Given the description of an element on the screen output the (x, y) to click on. 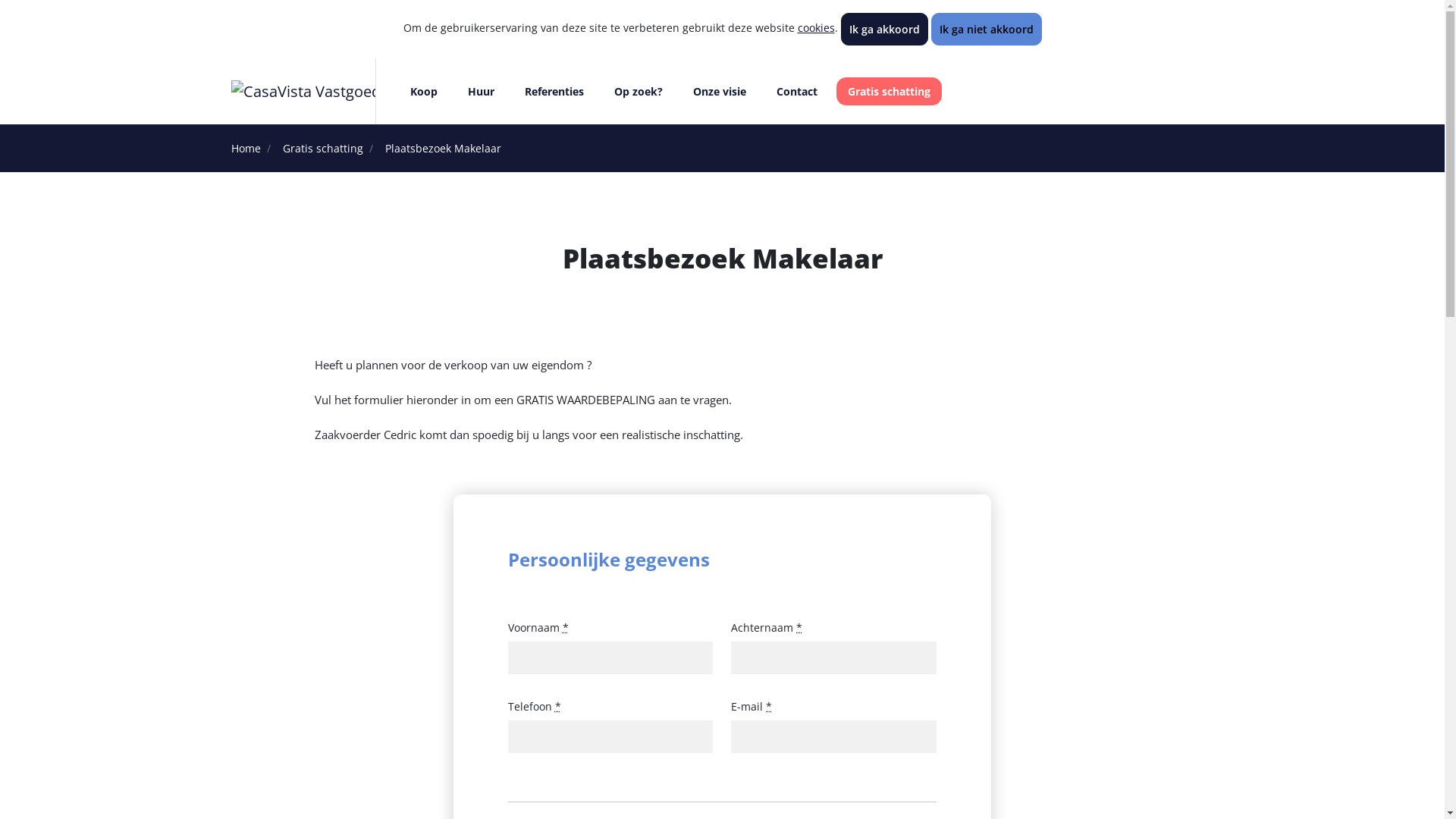
Gratis schatting Element type: text (322, 148)
Contact Element type: text (796, 91)
Plaatsbezoek Makelaar Element type: text (443, 148)
Referenties Element type: text (554, 91)
Ik ga niet akkoord Element type: text (986, 28)
Ik ga akkoord Element type: text (883, 28)
Huur Element type: text (480, 91)
cookies Element type: text (815, 27)
Gratis schatting Element type: text (888, 91)
Home Element type: text (245, 148)
Koop Element type: text (423, 91)
Onze visie Element type: text (719, 91)
Op zoek? Element type: text (638, 91)
